Given the description of an element on the screen output the (x, y) to click on. 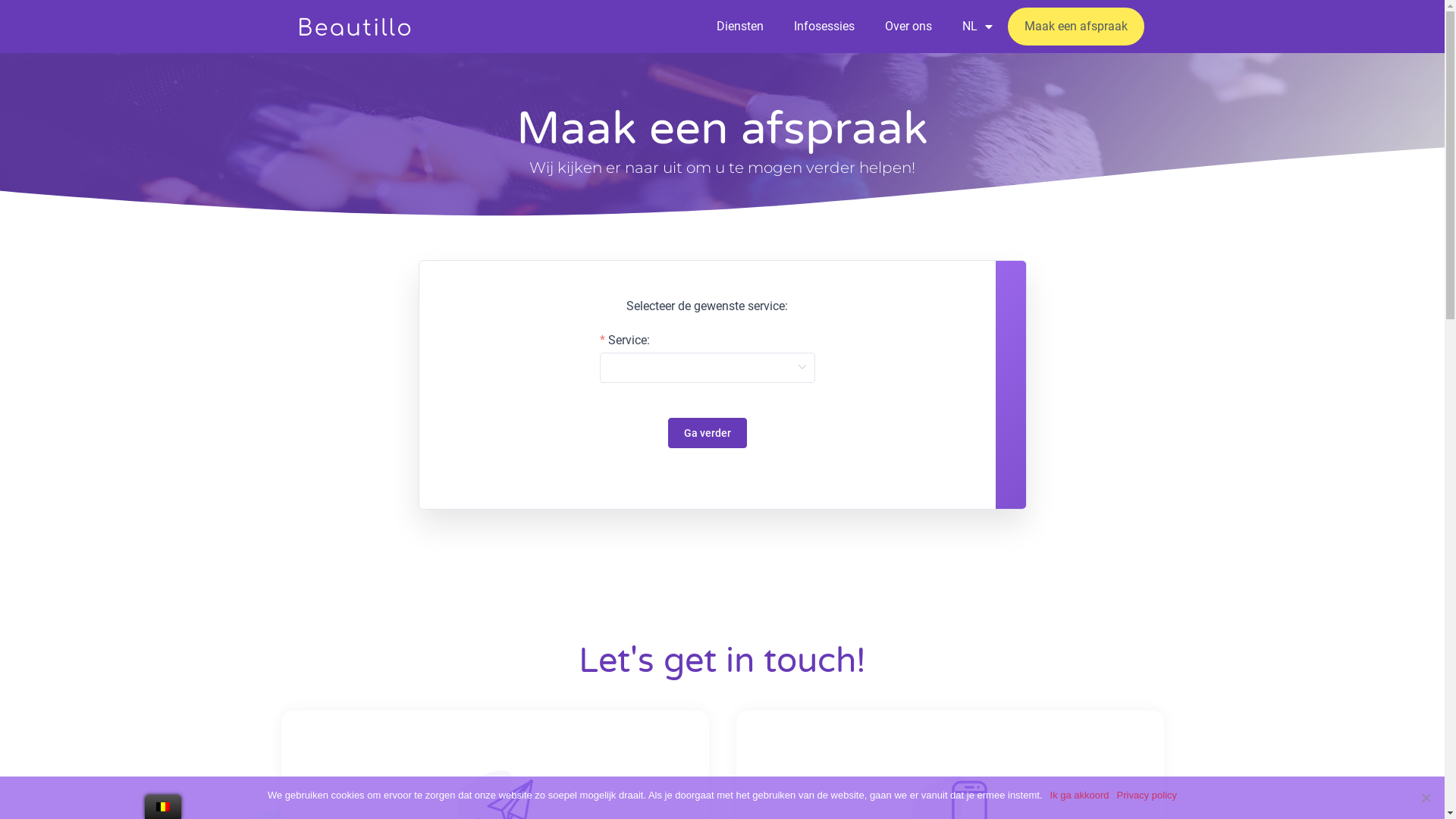
Ga verder Element type: text (706, 432)
Diensten Element type: text (739, 26)
Let's get in touch! Element type: text (722, 660)
Privacy policy Element type: text (1146, 795)
Over ons Element type: text (908, 26)
NL Element type: text (977, 26)
Infosessies Element type: text (823, 26)
Nee Element type: hover (1425, 797)
Maak een afspraak Element type: text (1075, 26)
Dutch Element type: hover (162, 806)
Ik ga akkoord Element type: text (1079, 795)
